Given the description of an element on the screen output the (x, y) to click on. 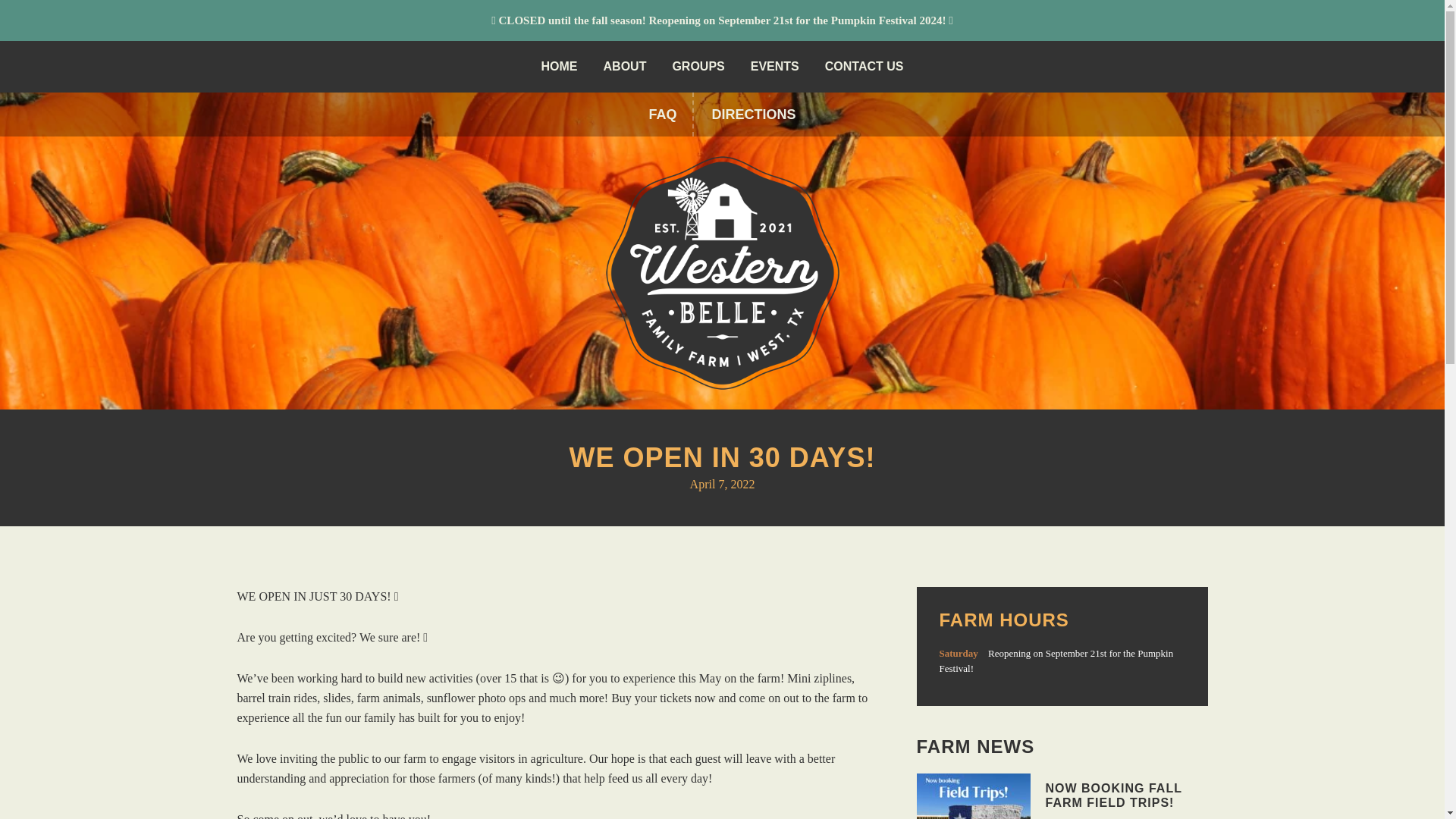
CONTACT US (864, 66)
DIRECTIONS (752, 114)
NOW BOOKING FALL FARM FIELD TRIPS! (1112, 795)
ABOUT (625, 66)
FAQ (662, 114)
EVENTS (774, 66)
HOME (559, 66)
GROUPS (698, 66)
